Given the description of an element on the screen output the (x, y) to click on. 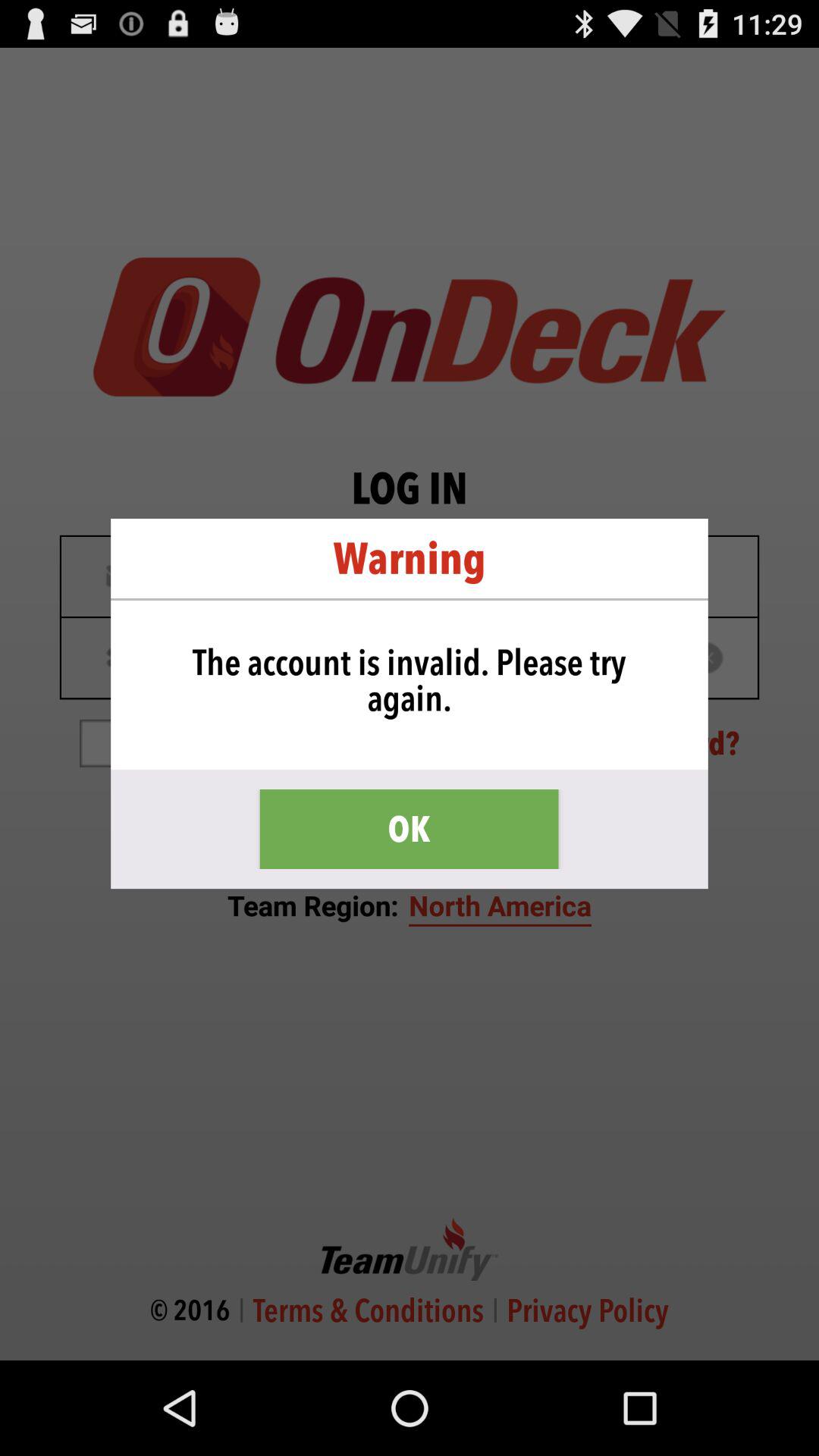
choose item below the the account is icon (408, 829)
